Given the description of an element on the screen output the (x, y) to click on. 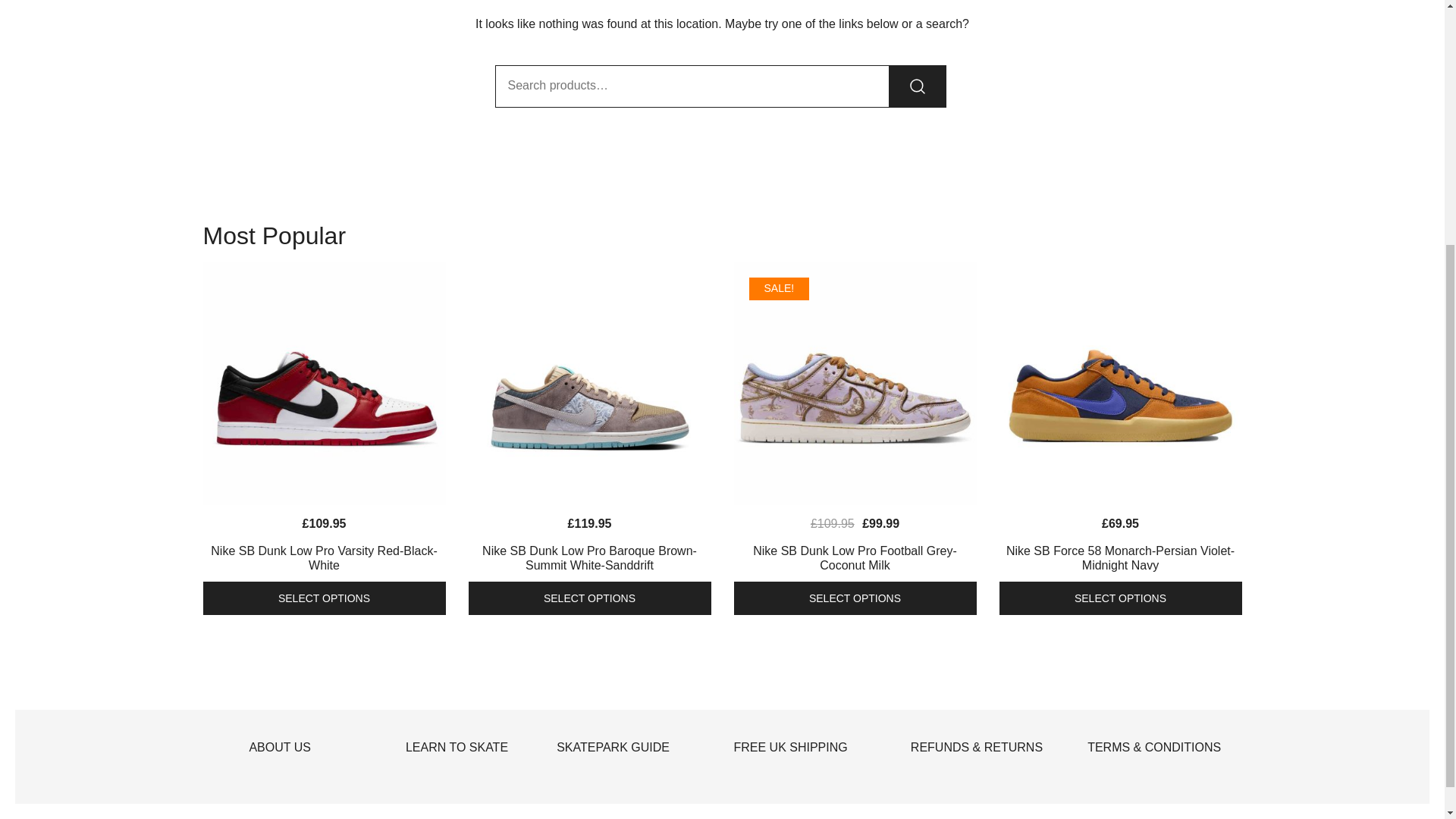
Social network twitter link. (251, 809)
Social network facebook link. (209, 809)
Search for the product (917, 86)
